Given the description of an element on the screen output the (x, y) to click on. 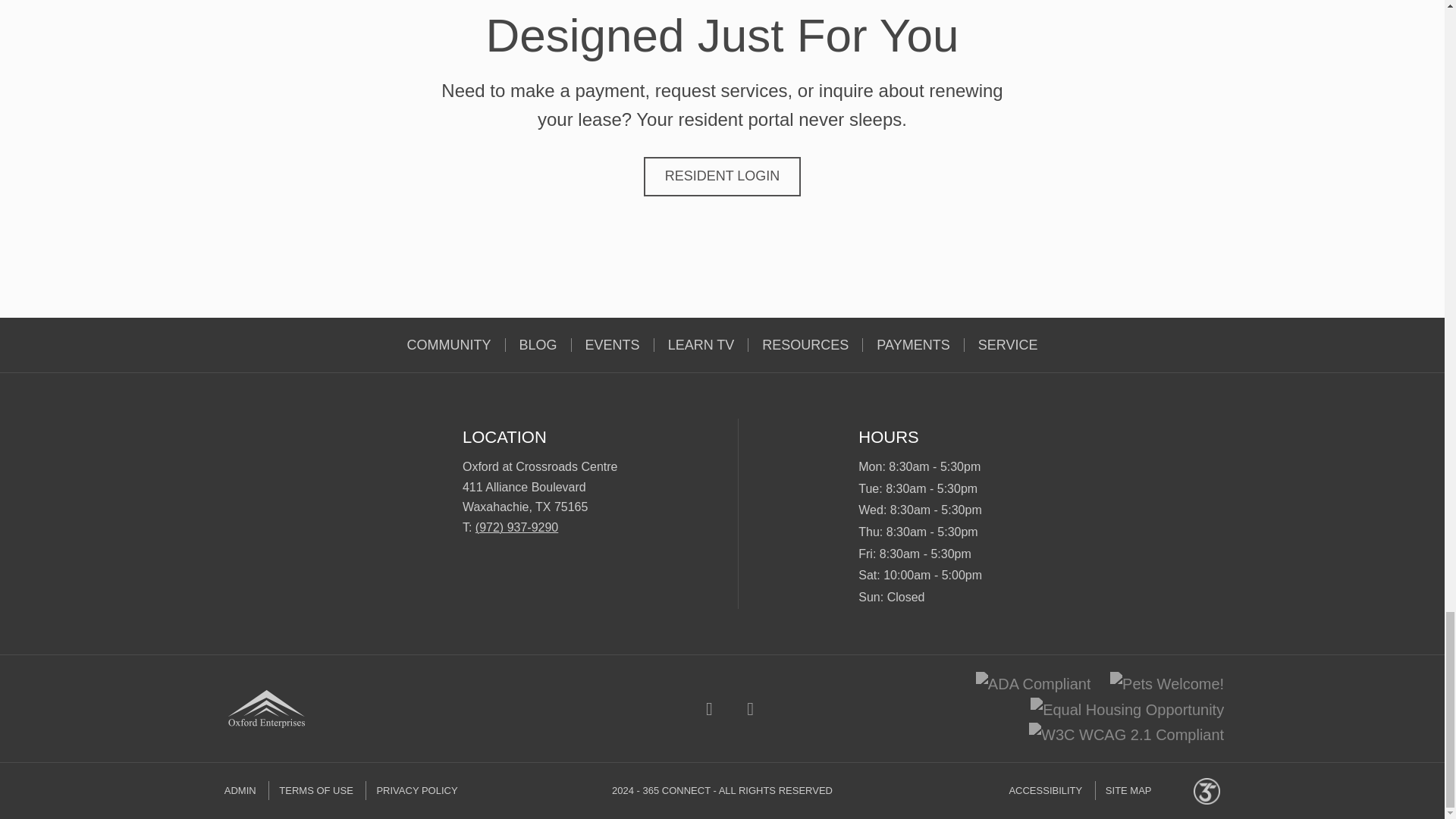
EVENTS (612, 345)
PAYMENTS (913, 345)
LEARN TV (701, 345)
TERMS OF USE (314, 790)
SITE MAP (1127, 790)
RESOURCES (805, 345)
PRIVACY POLICY (416, 790)
SERVICE (1007, 345)
ADMIN (245, 790)
ACCESSIBILITY (1050, 790)
RESIDENT LOGIN (722, 176)
COMMUNITY (449, 345)
BLOG (538, 345)
